Given the description of an element on the screen output the (x, y) to click on. 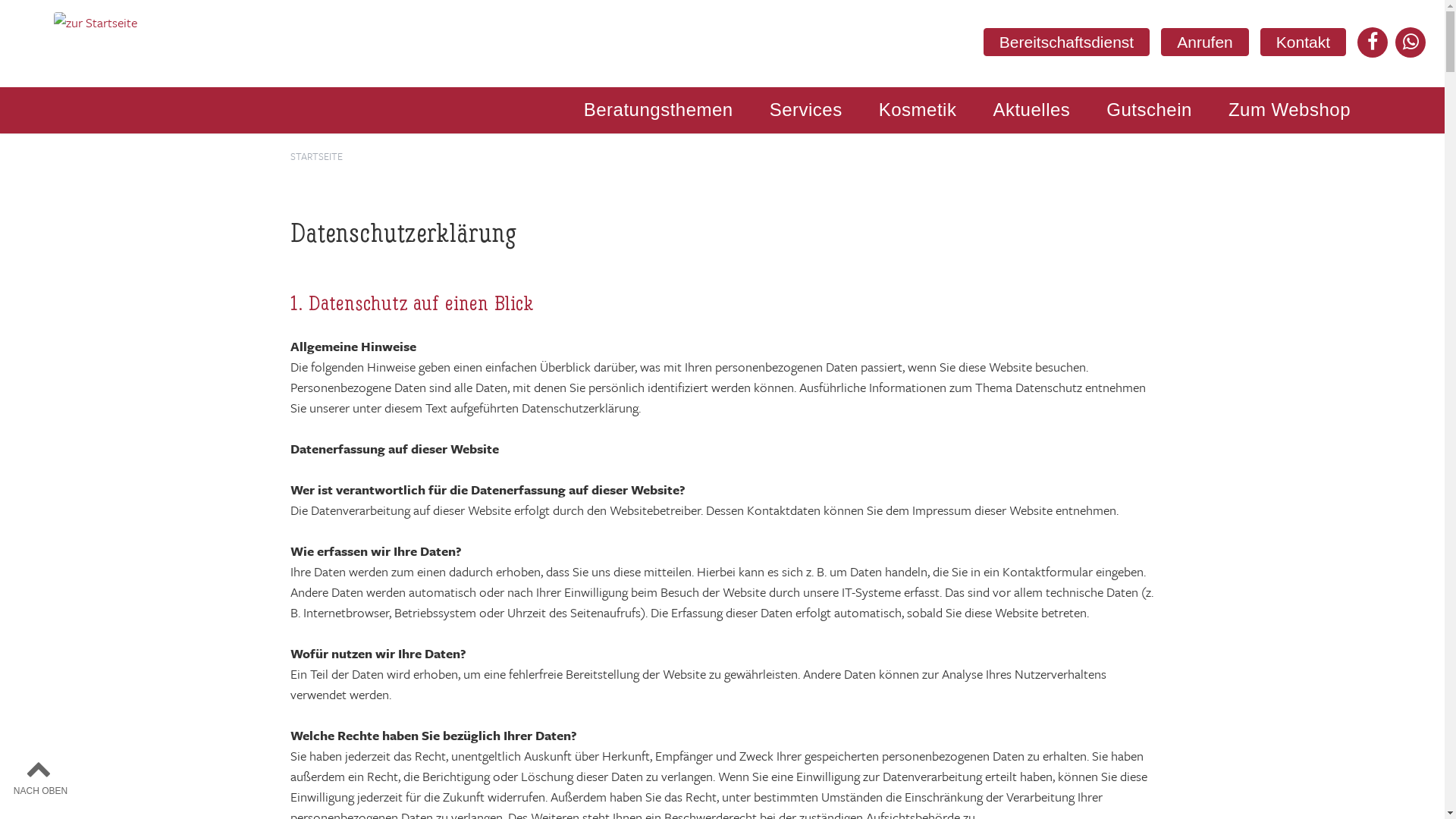
Anrufen Element type: text (1204, 41)
Gutschein Element type: text (1148, 110)
Aktuelles Element type: text (1030, 110)
STARTSEITE Element type: text (315, 155)
NACH OBEN Element type: text (40, 775)
Kontakt Element type: text (1303, 41)
Bereitschaftsdienst Element type: text (1066, 42)
Kosmetik Element type: text (917, 110)
Zum Webshop Element type: text (1289, 110)
zur Startseite Element type: hover (95, 22)
Beratungsthemen Element type: text (658, 110)
Services Element type: text (805, 110)
